Given the description of an element on the screen output the (x, y) to click on. 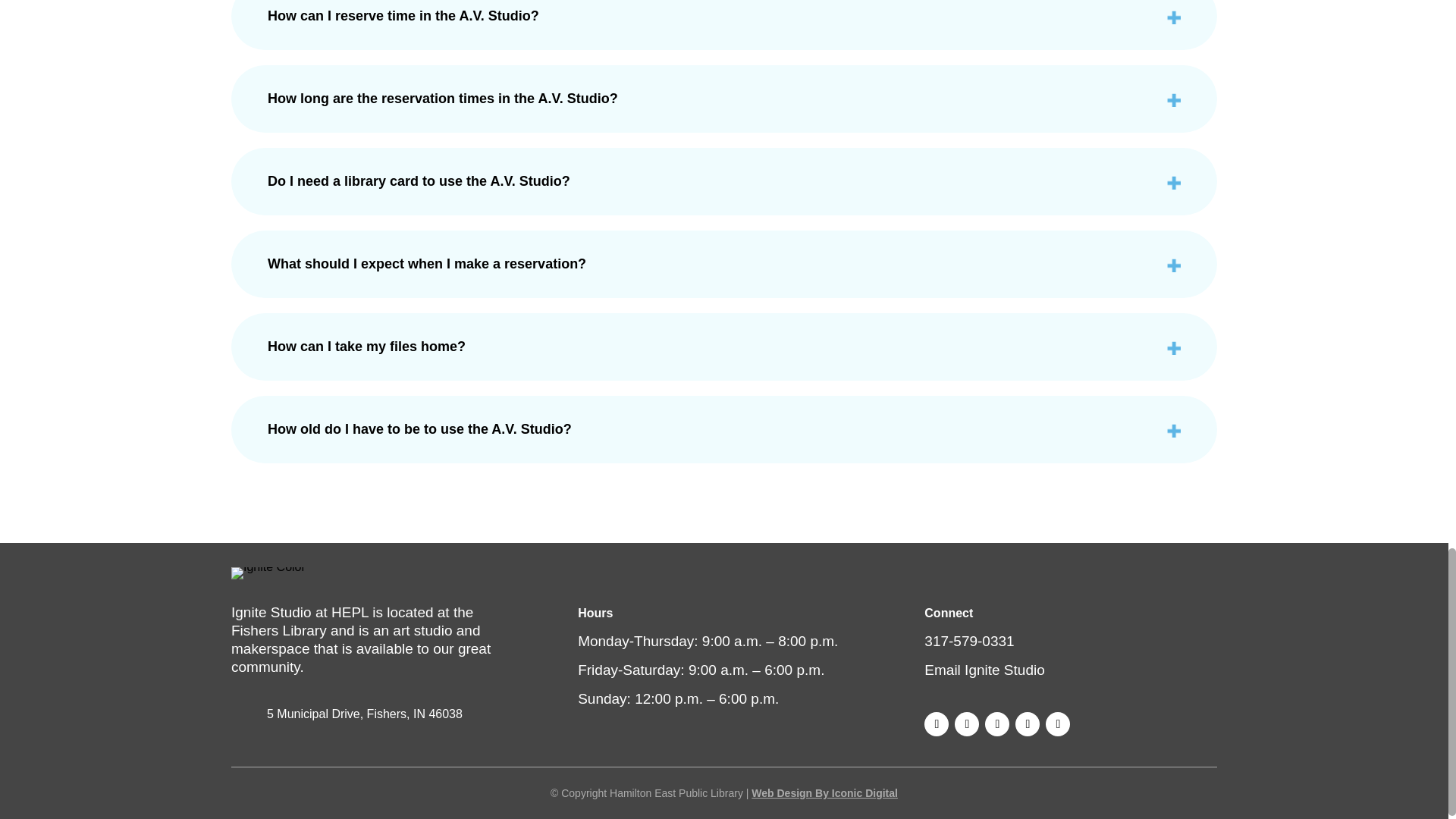
Follow on X (997, 723)
Follow on LinkedIn (1057, 723)
Follow on Facebook (936, 723)
Follow on Youtube (1026, 723)
317-579-0331 (968, 641)
Email Ignite Studio (983, 669)
Follow on Instagram (966, 723)
Web Design By Iconic Digital (824, 793)
Ignite Color Reverse (268, 573)
